Given the description of an element on the screen output the (x, y) to click on. 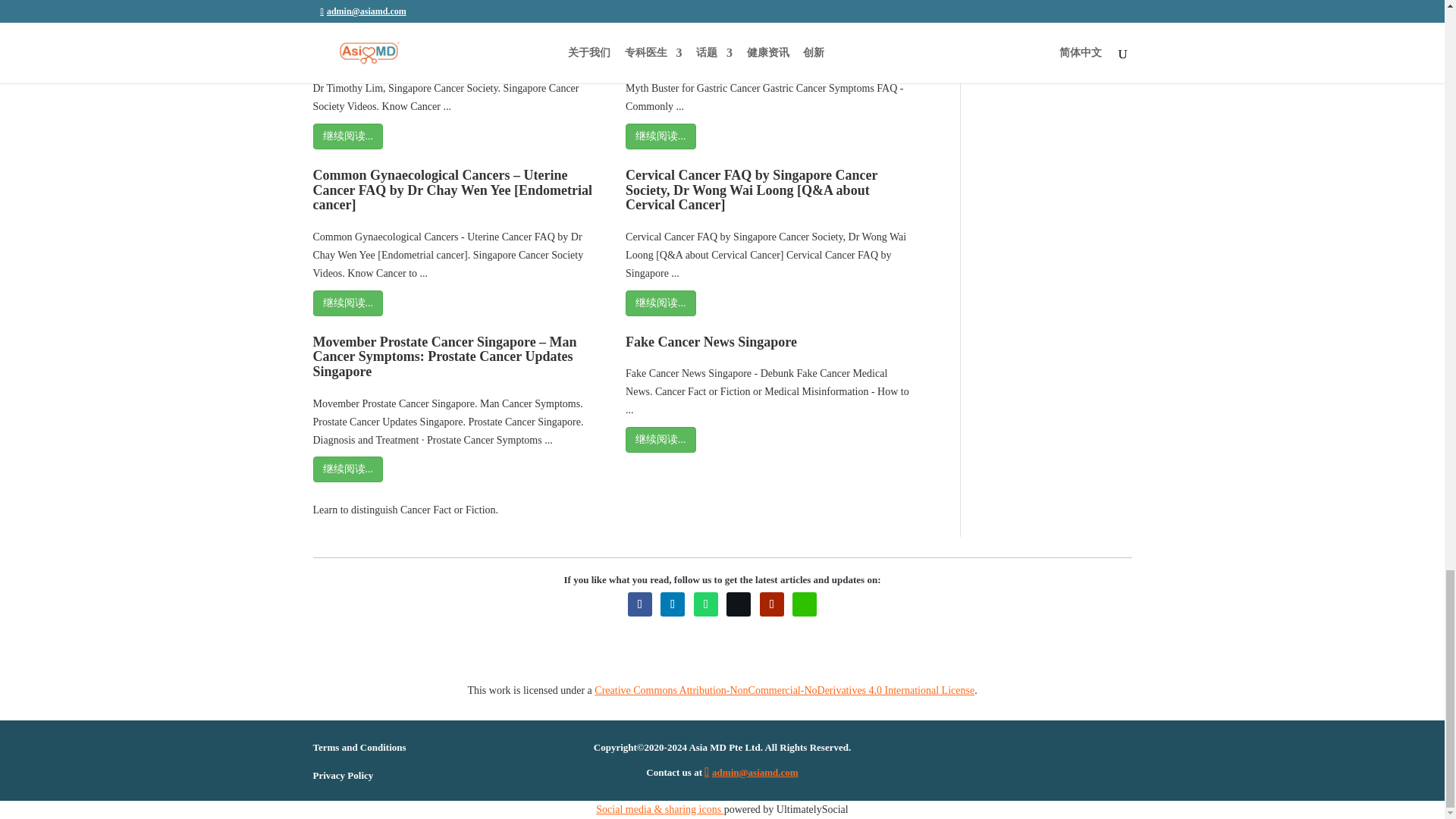
Follow on LinkedIn (672, 604)
Follow on WhatsApp (705, 604)
Follow on WeiXin (804, 604)
Follow on Twitter (738, 604)
Follow on Facebook (639, 604)
Follow on Youtube (772, 604)
